Given the description of an element on the screen output the (x, y) to click on. 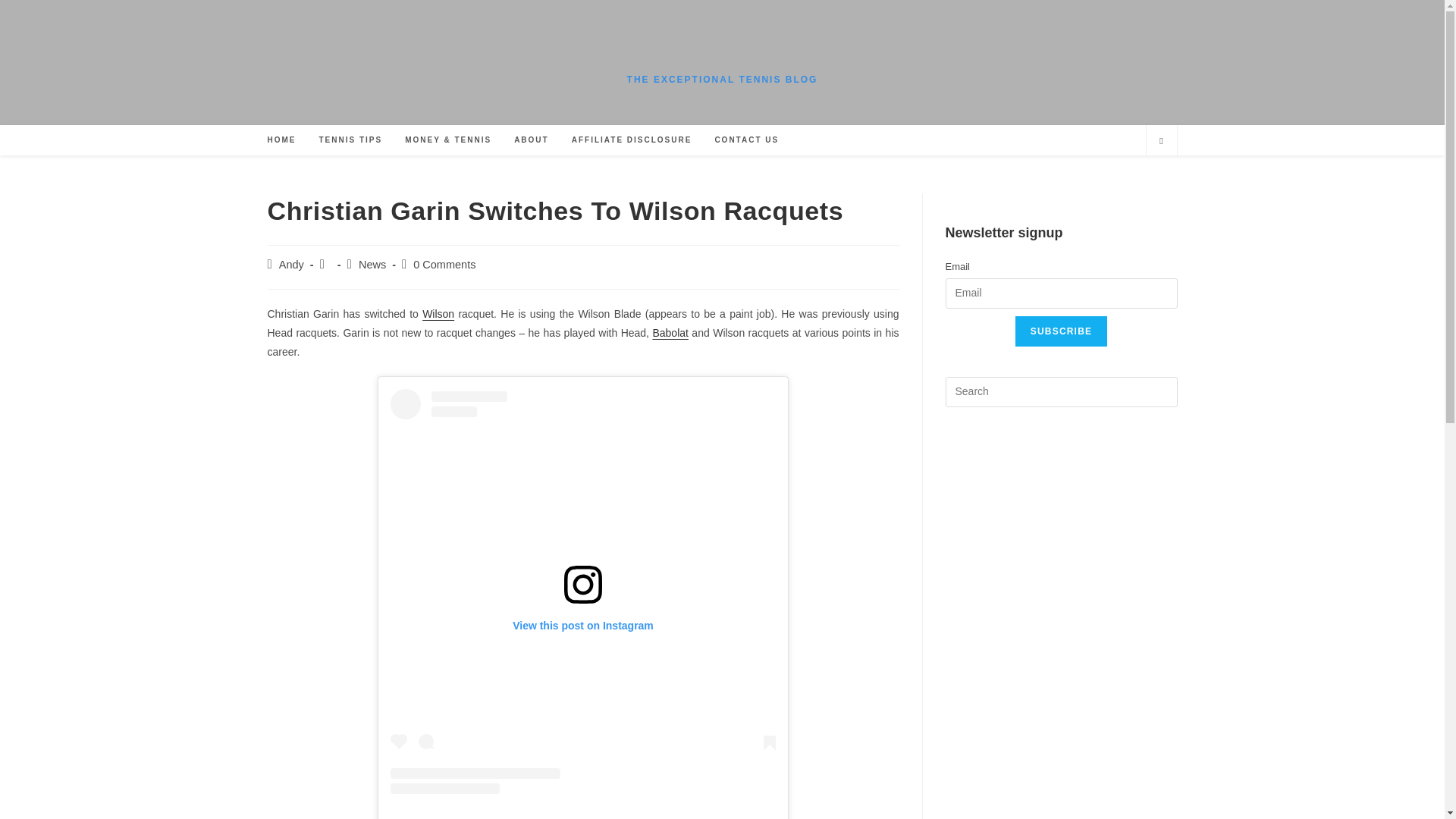
HOME (281, 140)
AFFILIATE DISCLOSURE (631, 140)
0 Comments (444, 264)
TENNIS TIPS (350, 140)
Babolat (669, 332)
CONTACT US (746, 140)
News (371, 264)
ABOUT (531, 140)
Wilson (438, 313)
Andy (291, 264)
